Given the description of an element on the screen output the (x, y) to click on. 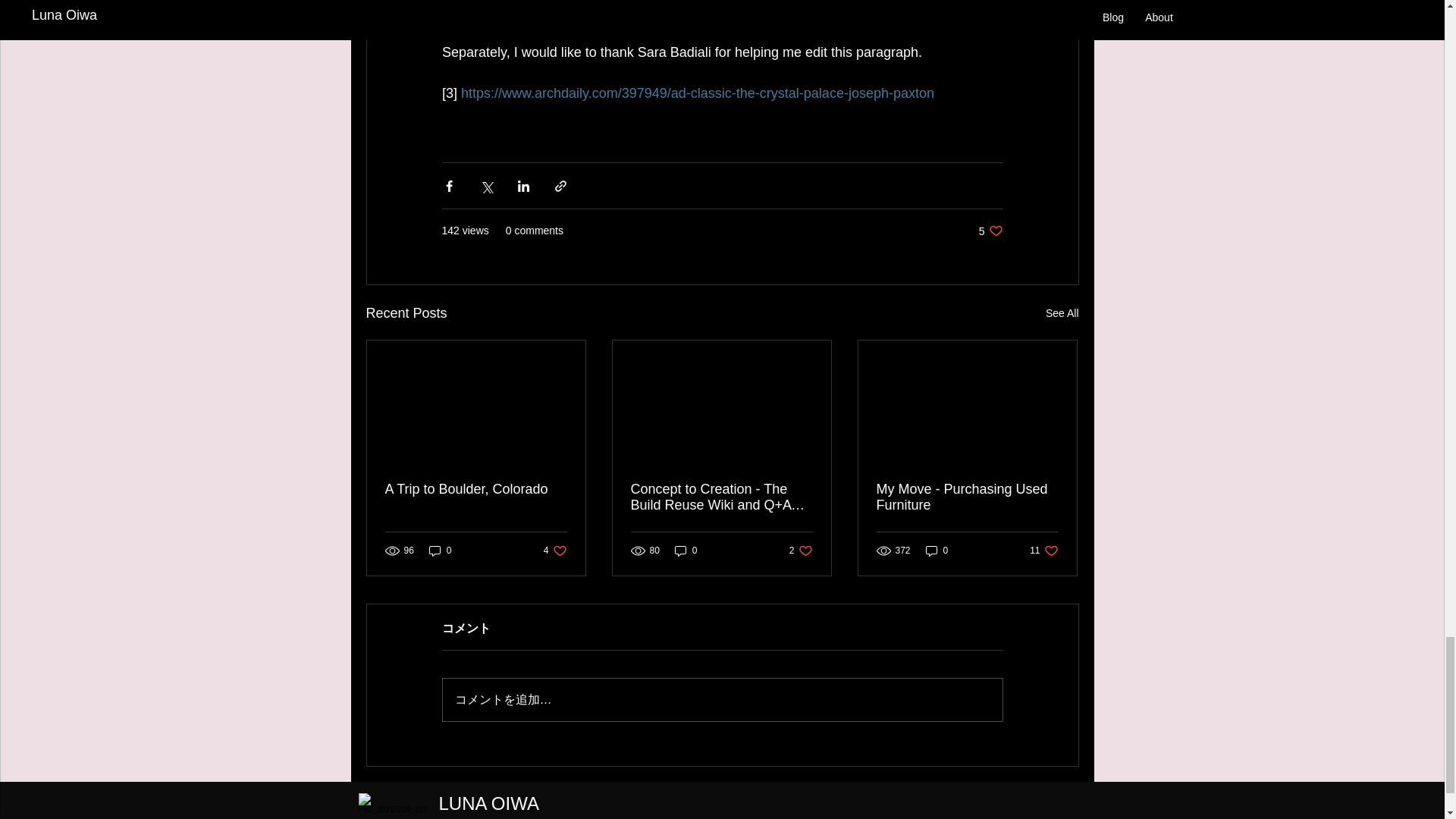
0 (937, 550)
0 (685, 550)
A Trip to Boulder, Colorado (476, 489)
See All (1061, 313)
0 (440, 550)
My Move - Purchasing Used Furniture (967, 497)
